Given the description of an element on the screen output the (x, y) to click on. 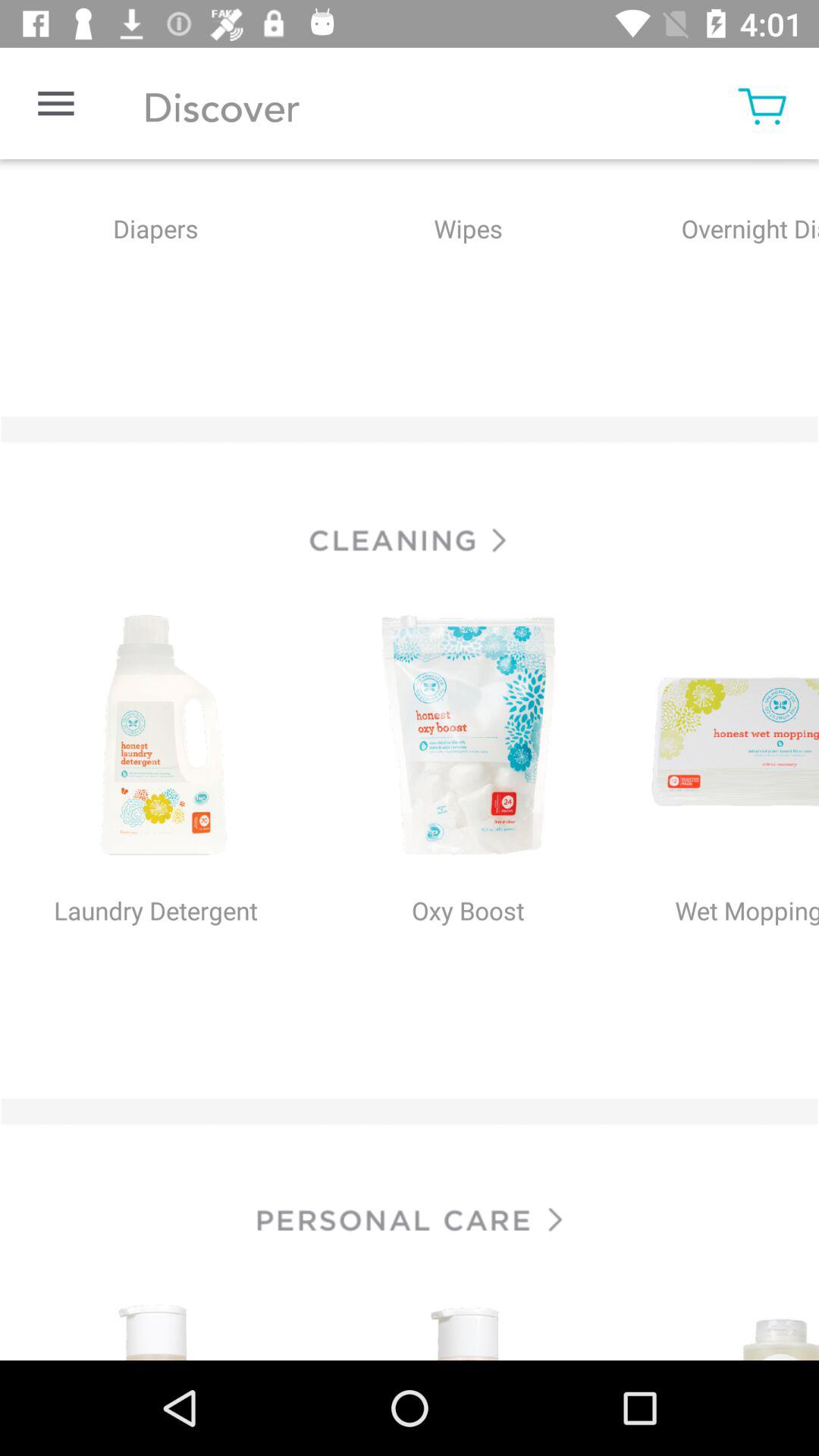
select wet moppping at right side of the page (726, 942)
click on the product image which is above the text oxy boost (468, 736)
click on the diapers (156, 260)
go to top of wet mopping (721, 736)
